Given the description of an element on the screen output the (x, y) to click on. 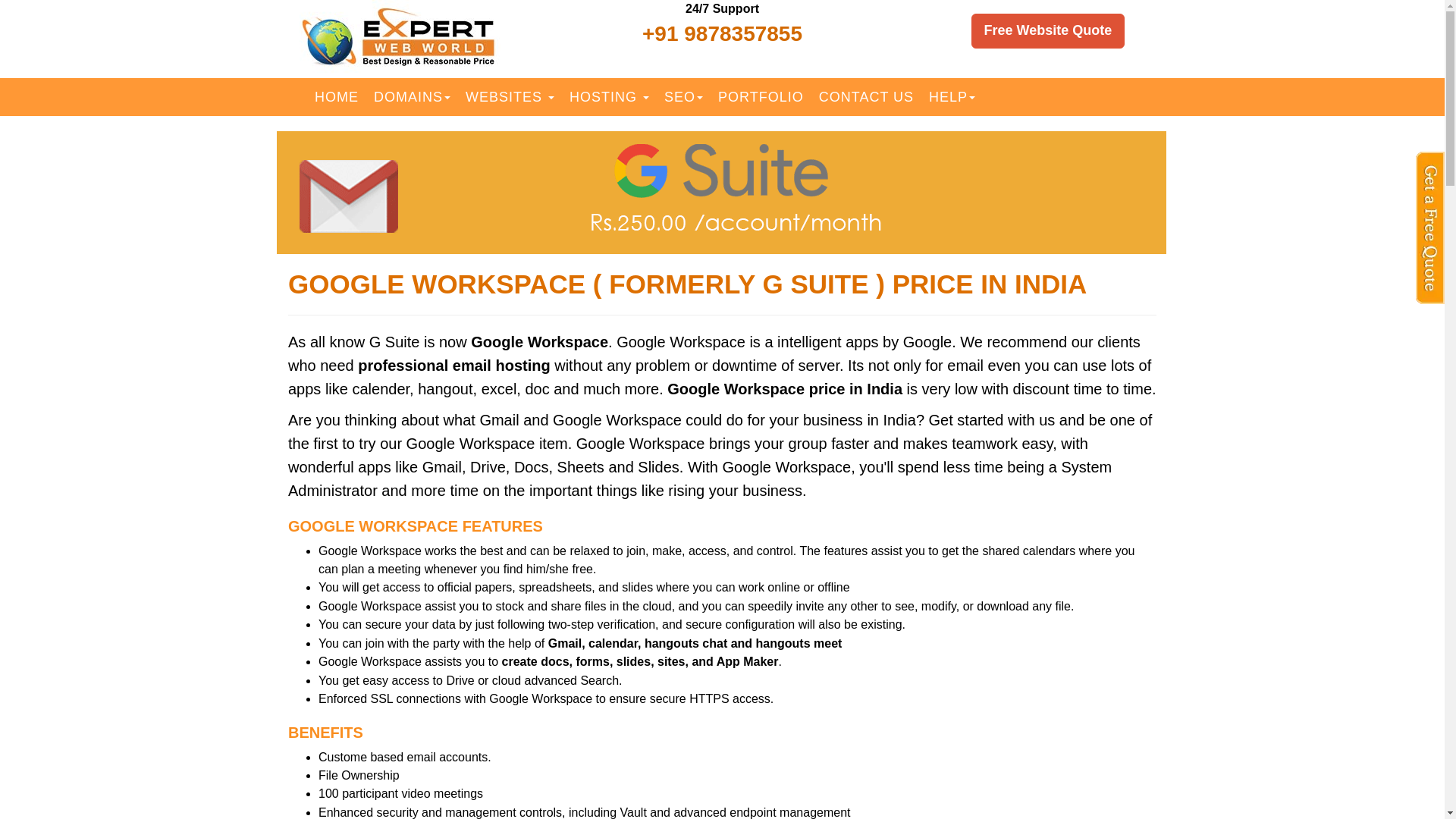
DOMAINS (412, 96)
HOME (336, 96)
website design company in India. (510, 96)
SEO (683, 96)
Free Website Quote (1048, 30)
HOSTING (609, 96)
WEBSITES (510, 96)
